Given the description of an element on the screen output the (x, y) to click on. 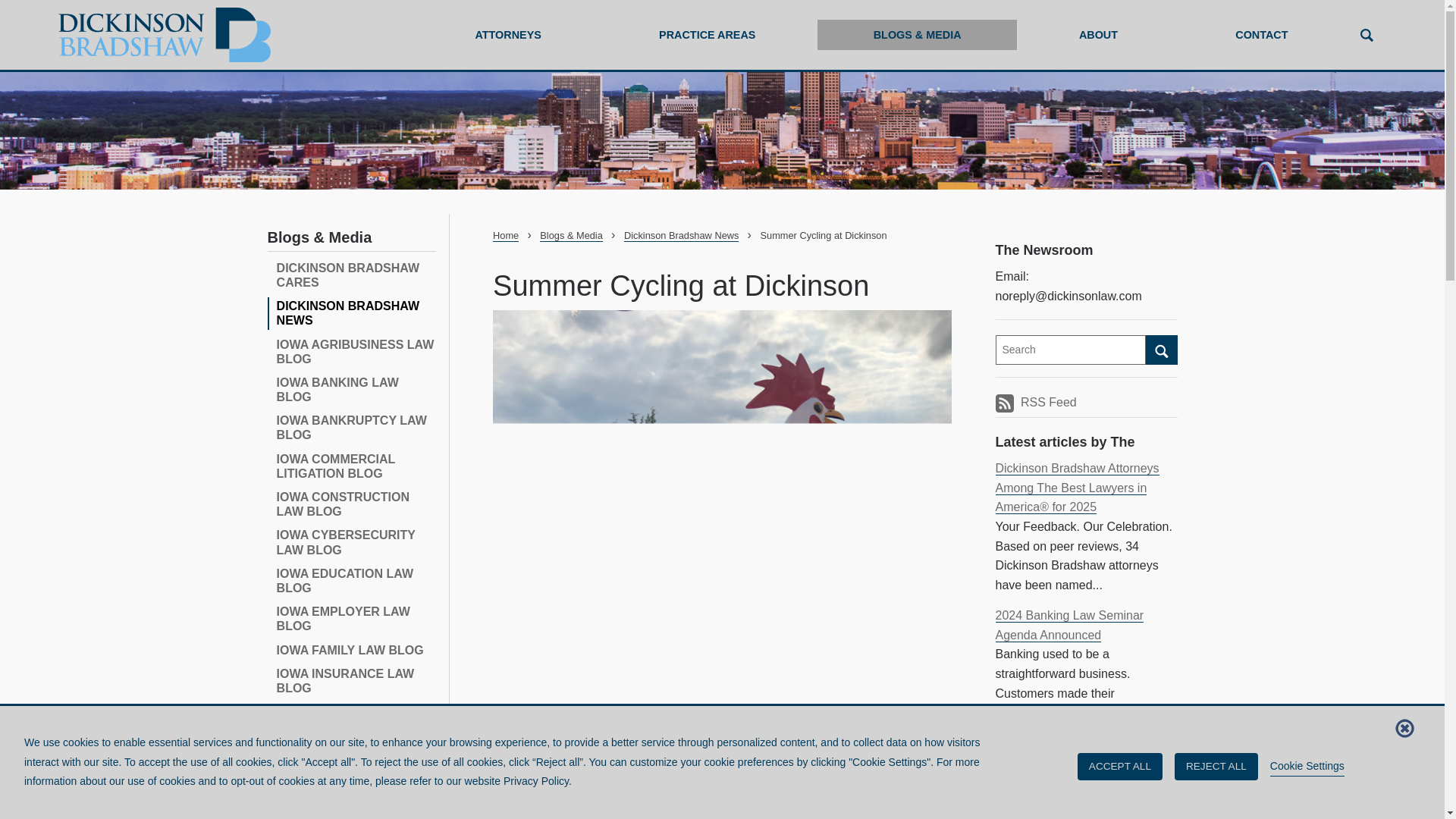
PRACTICE AREAS (706, 34)
ATTORNEYS (507, 34)
Dismiss Banner (1403, 727)
